Given the description of an element on the screen output the (x, y) to click on. 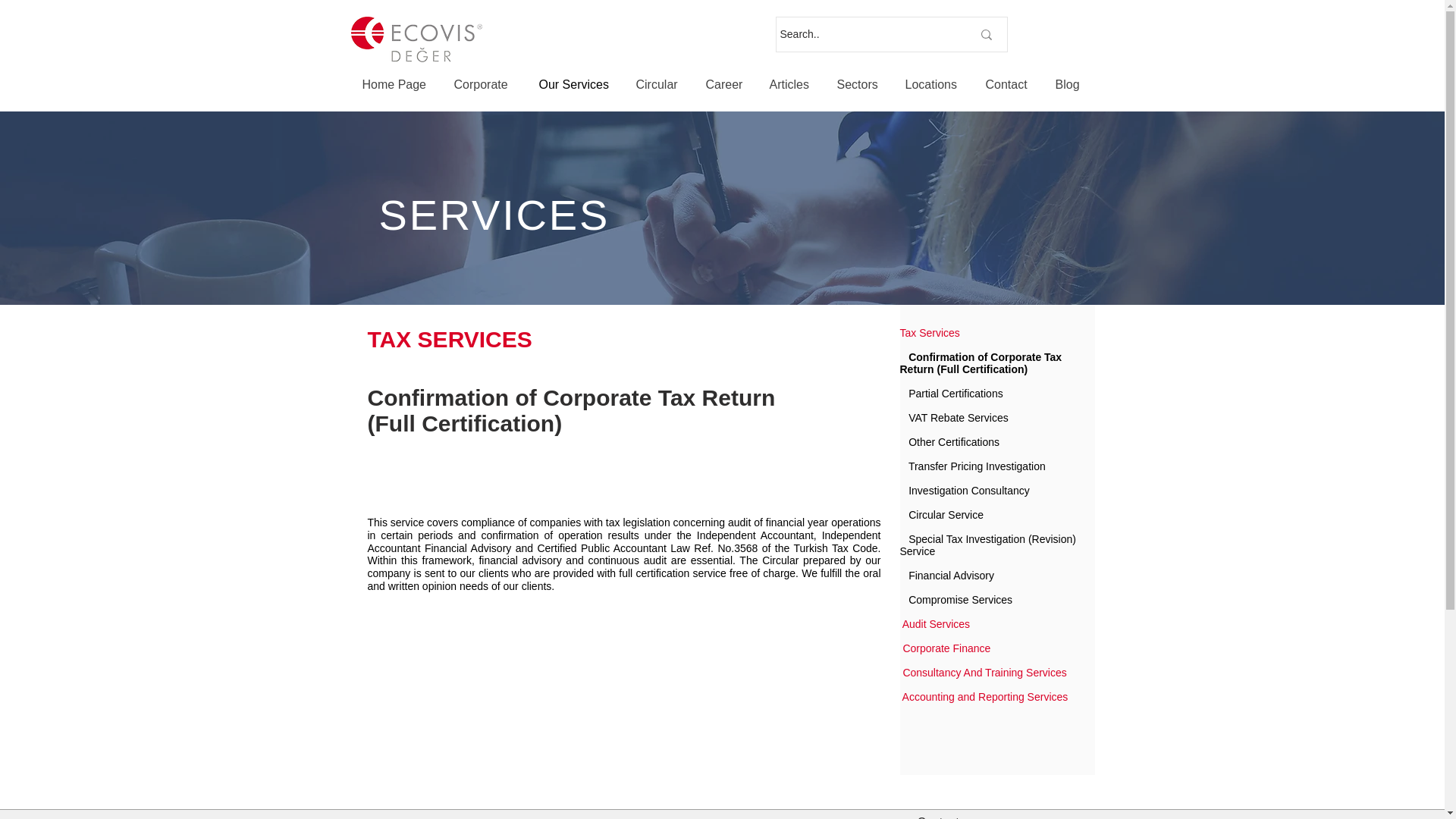
Our Services (575, 84)
Compromise Services (959, 599)
Consultancy And Training Services (983, 672)
Audit Services (935, 623)
Blog (1068, 84)
Financial Advisory (951, 575)
Partial Certifications (955, 393)
Contact (1008, 84)
Articles (791, 84)
Circular (659, 84)
Corporate Finance (946, 648)
Other Certifications (953, 441)
Sectors (859, 84)
Locations (933, 84)
Career (726, 84)
